Given the description of an element on the screen output the (x, y) to click on. 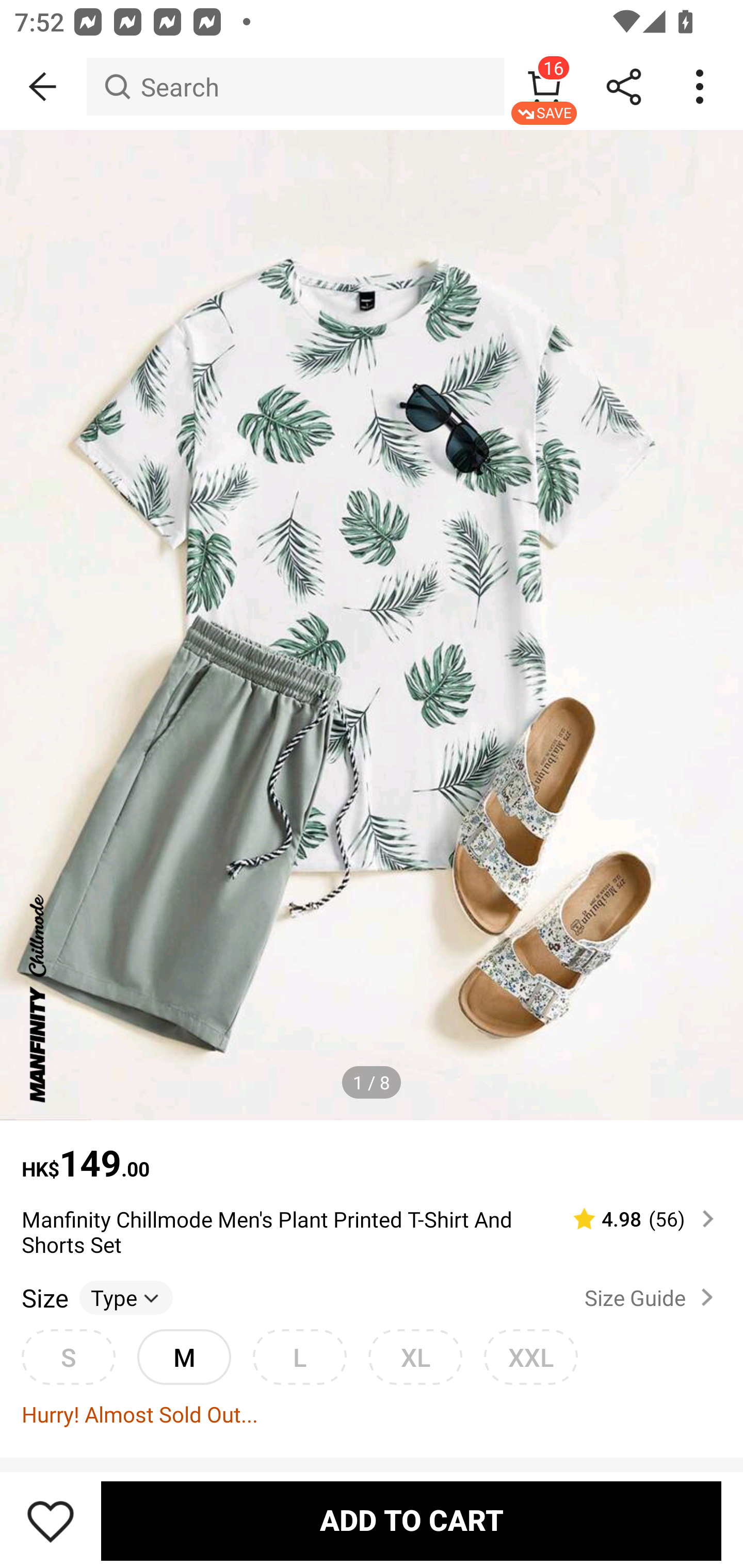
BACK (43, 86)
16 SAVE (543, 87)
Search (295, 87)
1 / 8 (371, 1082)
HK$149.00 (371, 1152)
4.98 (56) (635, 1219)
Size (44, 1297)
Type (126, 1297)
Size Guide (652, 1297)
S (68, 1356)
M Munselected option (184, 1356)
L (299, 1356)
XL (415, 1356)
XXL (530, 1356)
Hurry! Almost Sold Out... (371, 1413)
ADD TO CART (411, 1520)
Save (50, 1520)
